Given the description of an element on the screen output the (x, y) to click on. 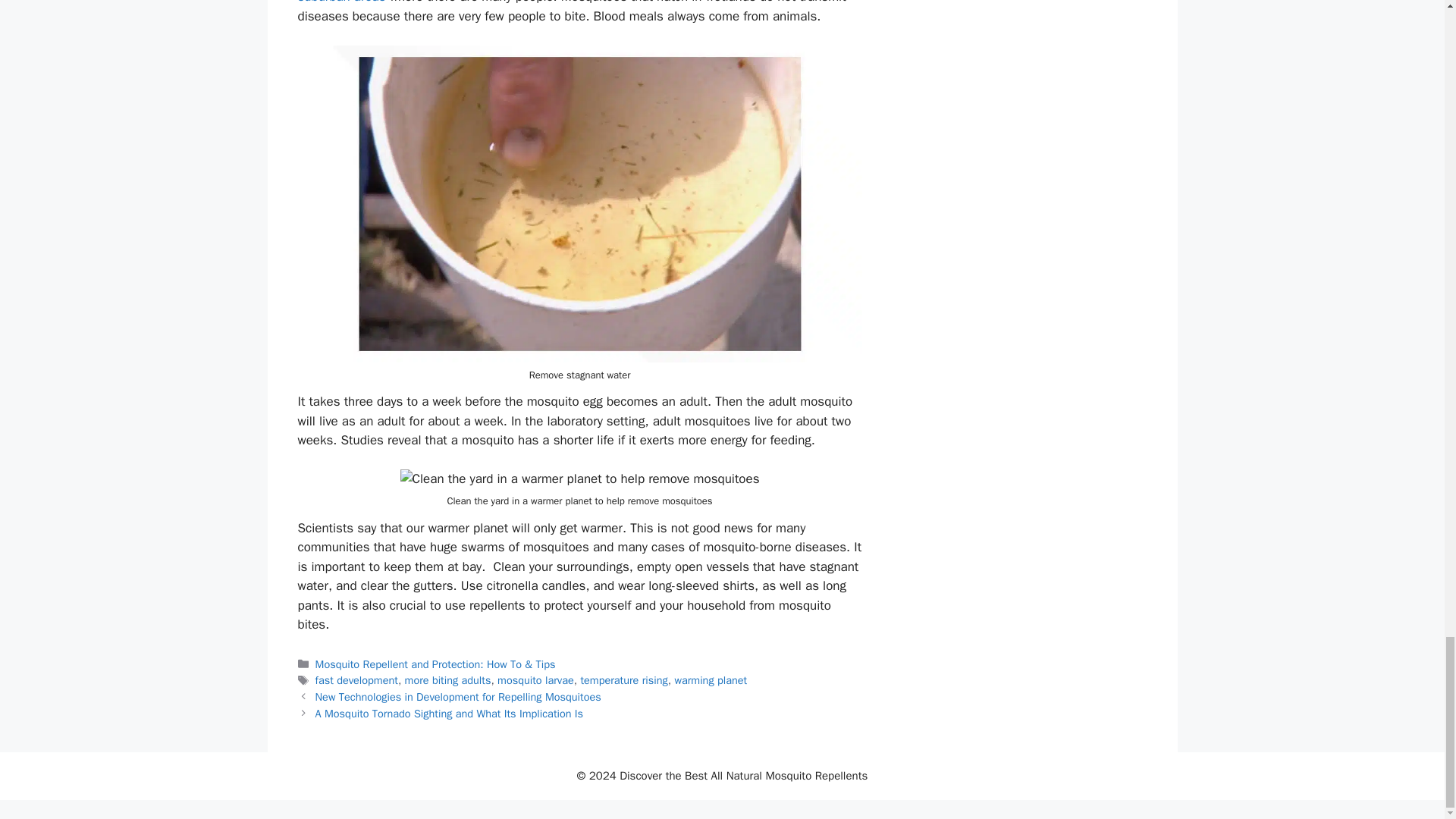
mosquito larvae (535, 680)
more biting adults (448, 680)
temperature rising (622, 680)
New Technologies in Development for Repelling Mosquitoes (458, 696)
fast development (356, 680)
warming planet (710, 680)
A Mosquito Tornado Sighting and What Its Implication Is (449, 713)
